Given the description of an element on the screen output the (x, y) to click on. 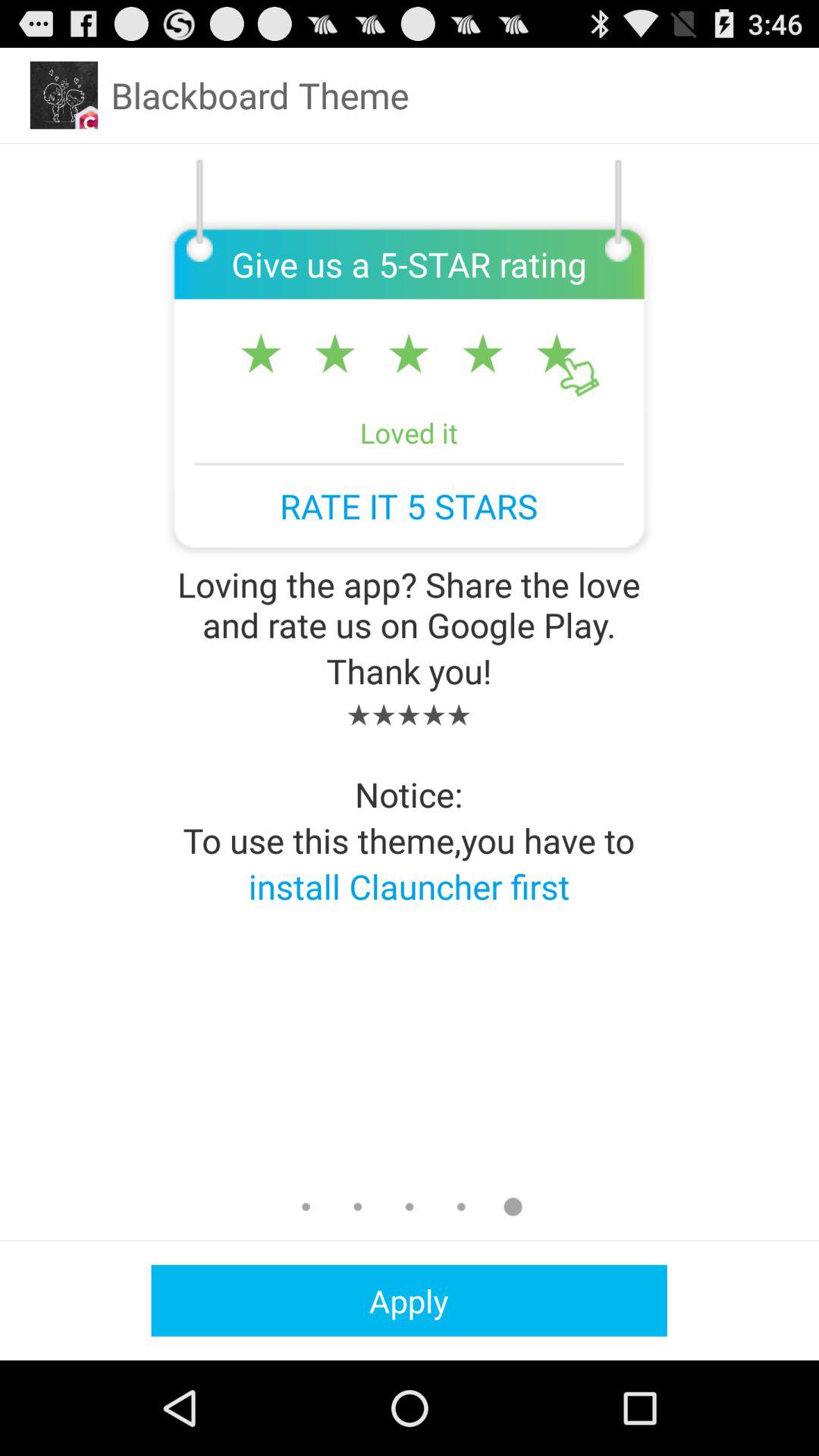
scroll until install clauncher first app (409, 886)
